Given the description of an element on the screen output the (x, y) to click on. 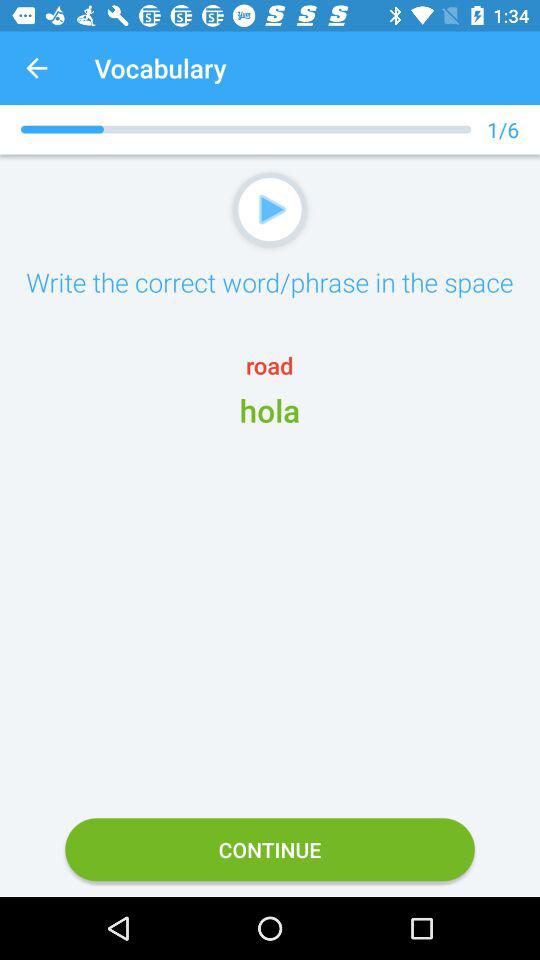
select continue (269, 849)
